Given the description of an element on the screen output the (x, y) to click on. 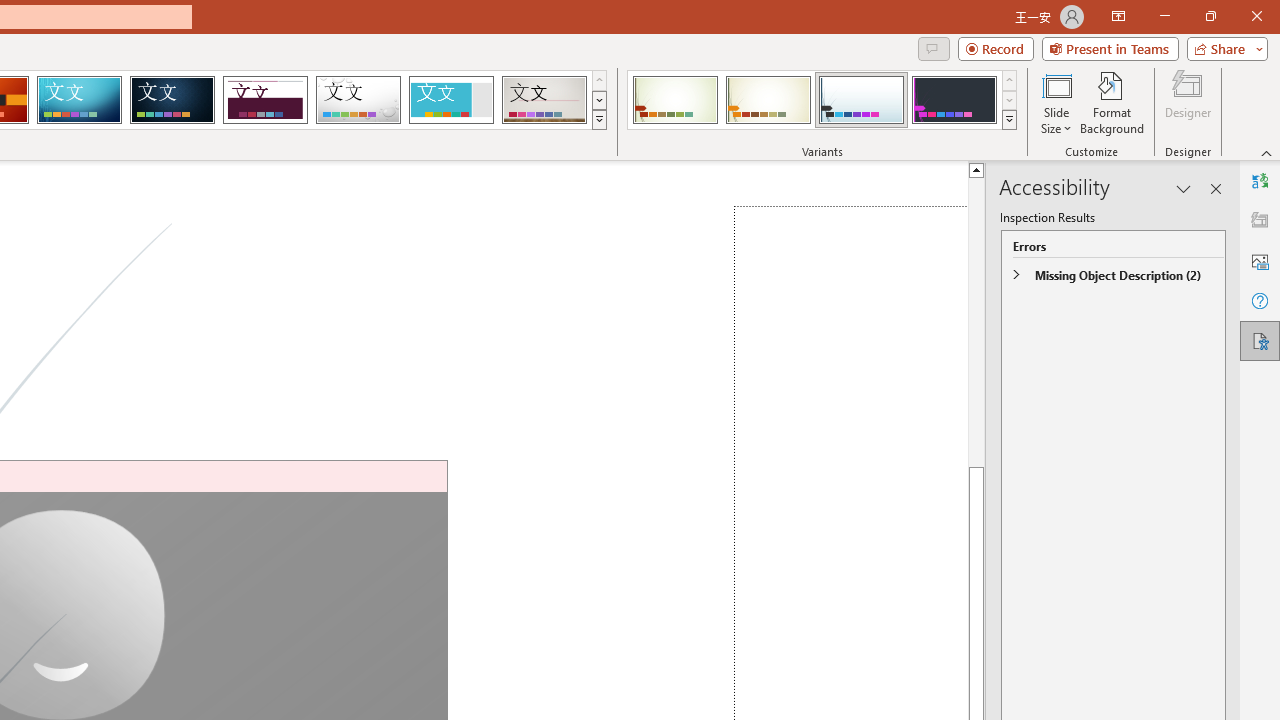
Wisp Variant 1 (674, 100)
Damask (171, 100)
Alt Text (1260, 260)
